Given the description of an element on the screen output the (x, y) to click on. 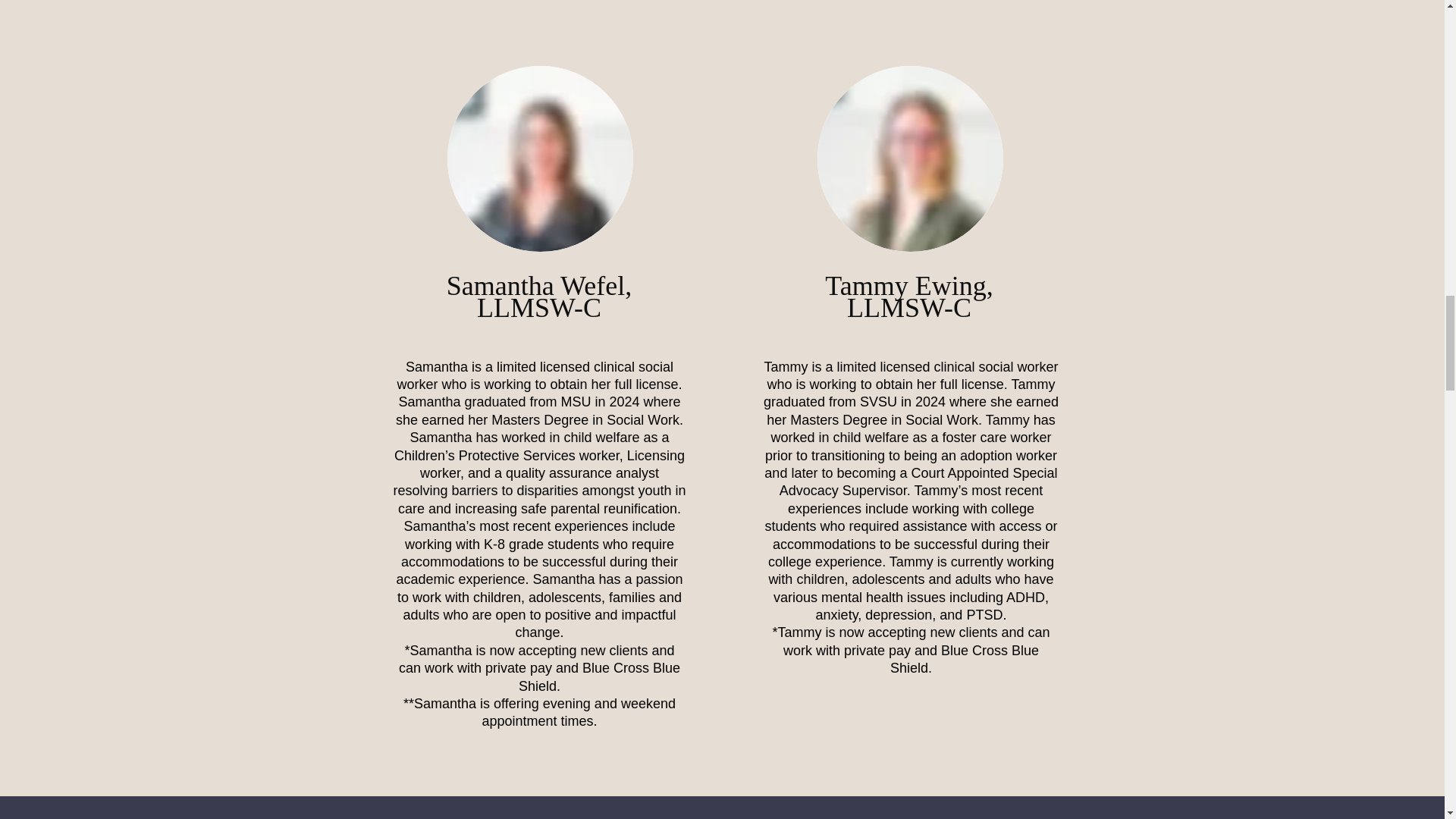
guy4.jpg (909, 158)
guy4.jpg (539, 158)
